Given the description of an element on the screen output the (x, y) to click on. 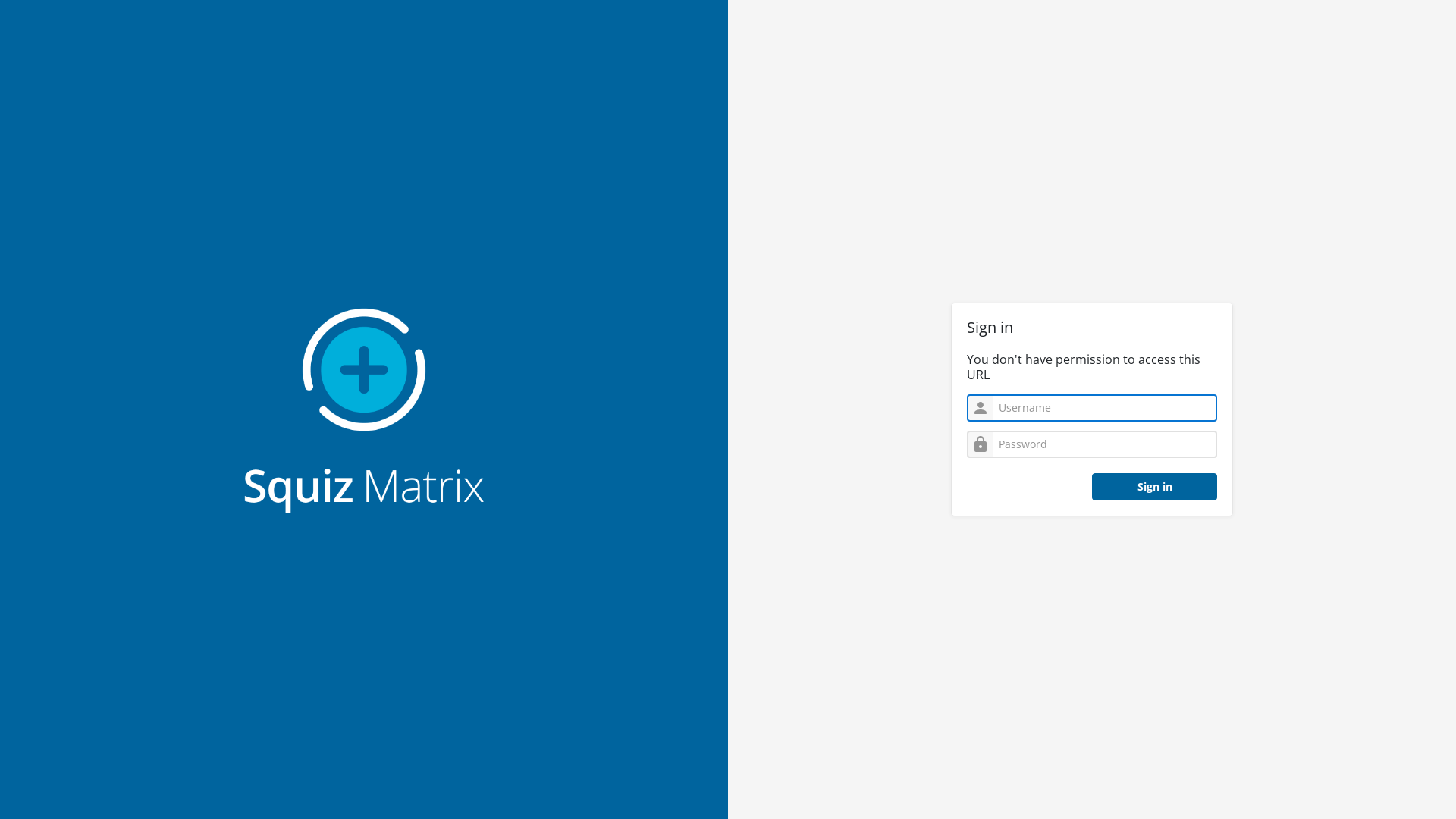
Sign in Element type: text (1154, 486)
